Given the description of an element on the screen output the (x, y) to click on. 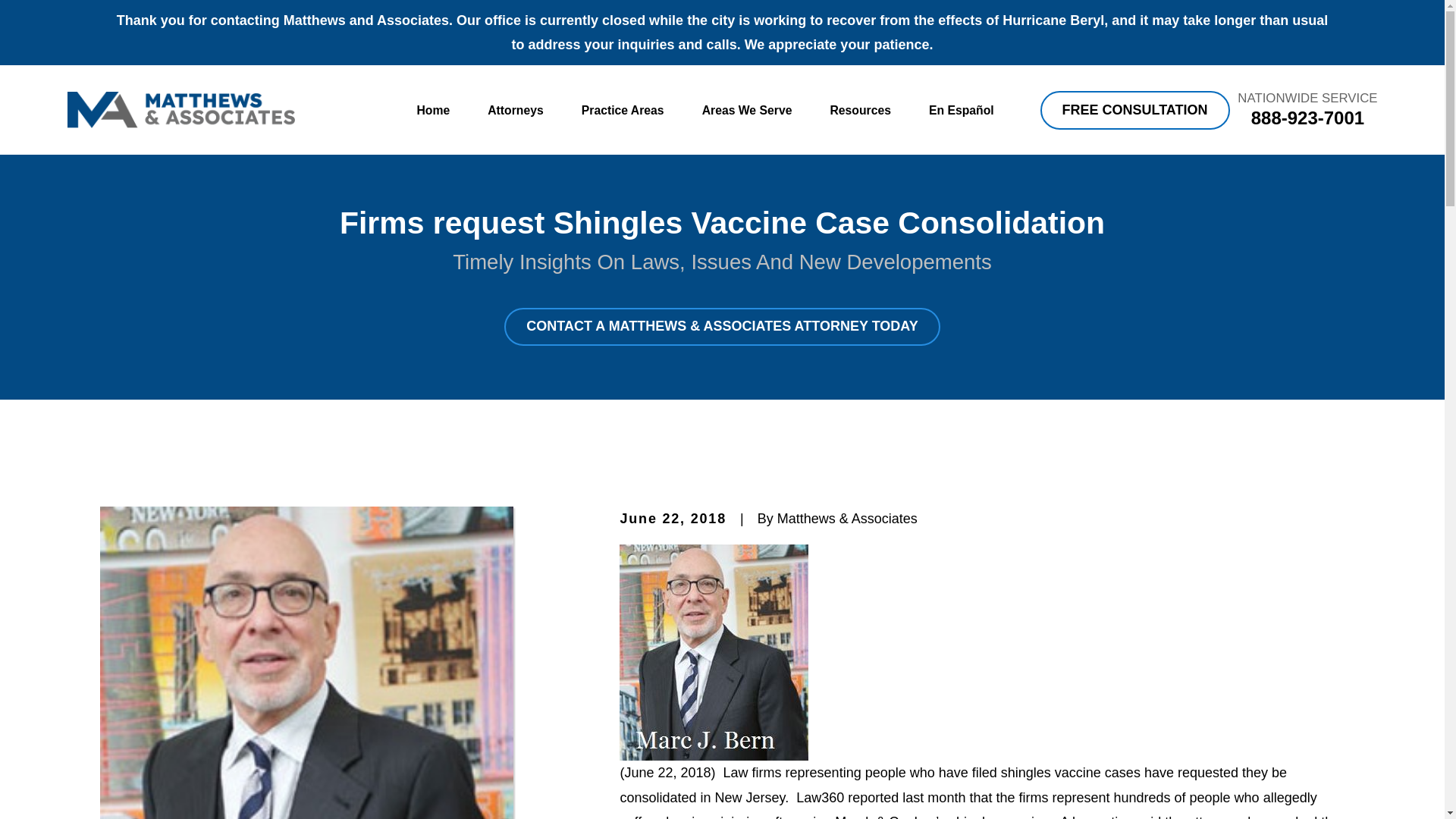
Practice Areas (621, 110)
Home (180, 109)
Attorneys (515, 110)
